Given the description of an element on the screen output the (x, y) to click on. 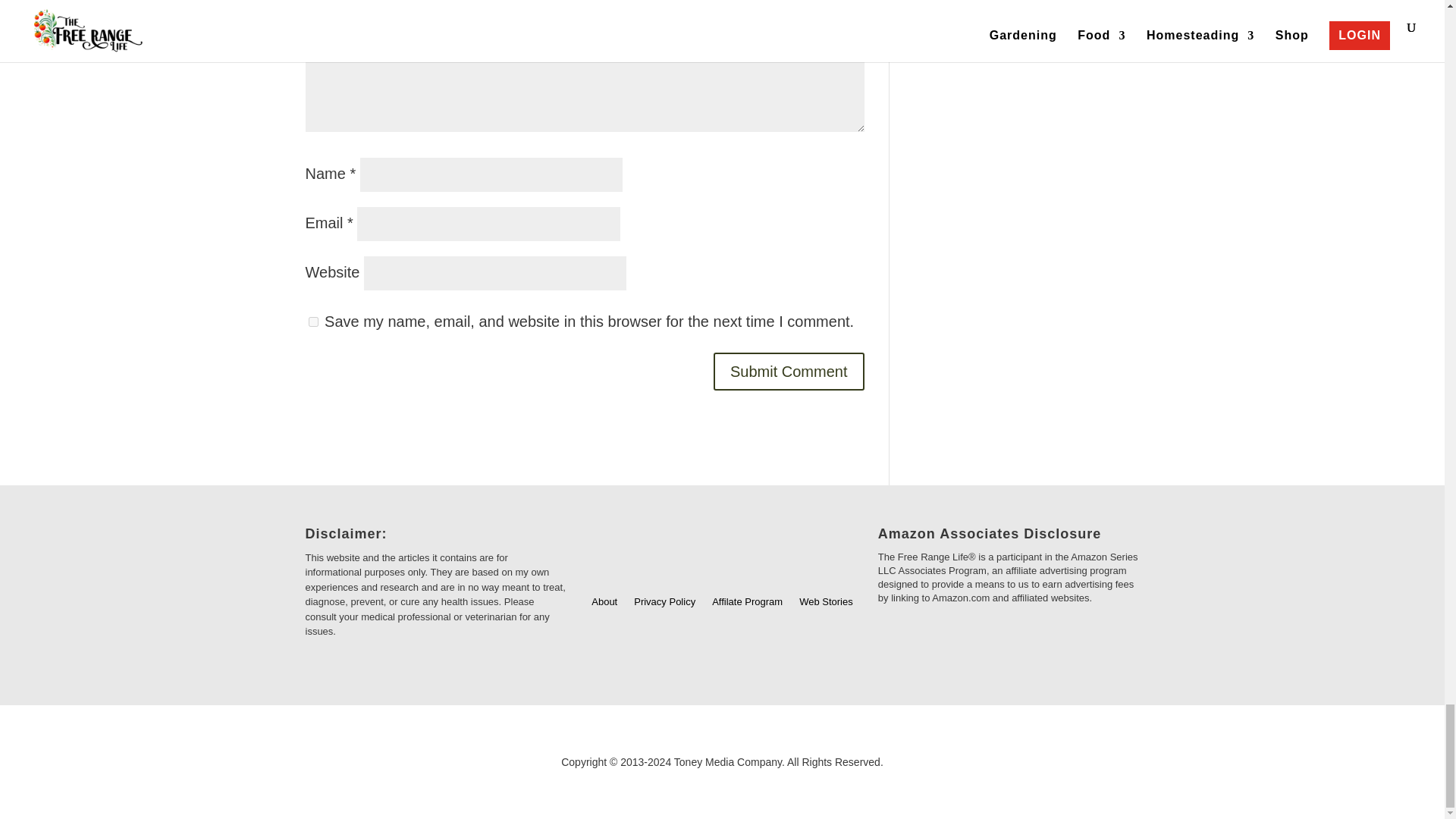
yes (312, 321)
Submit Comment (788, 371)
Web Stories (826, 601)
Submit Comment (788, 371)
Affilate Program (747, 601)
Privacy Policy (664, 601)
